Given the description of an element on the screen output the (x, y) to click on. 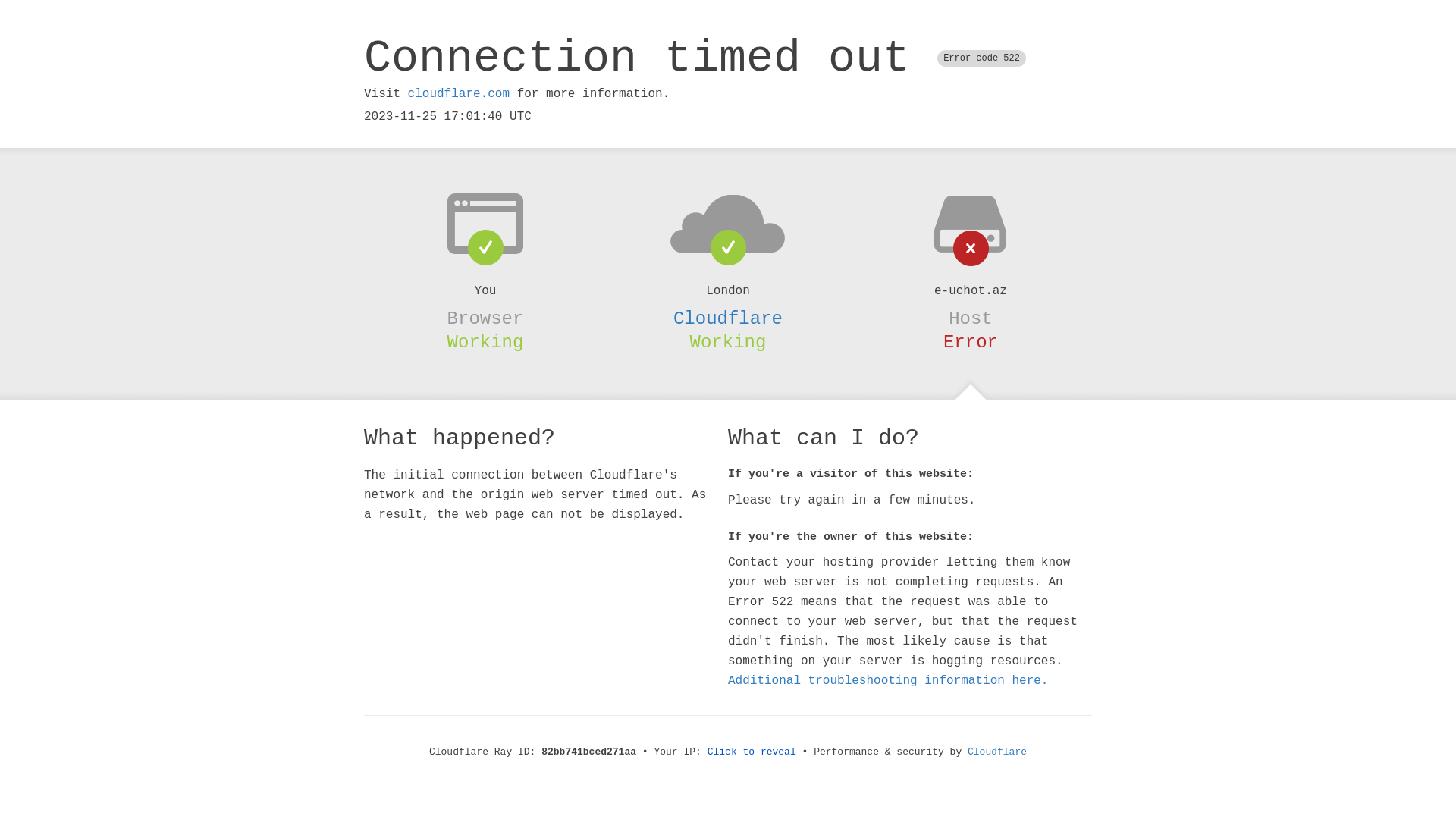
Click to reveal Element type: text (751, 751)
Cloudflare Element type: text (727, 318)
Additional troubleshooting information here. Element type: text (888, 680)
Cloudflare Element type: text (996, 751)
cloudflare.com Element type: text (458, 93)
